Given the description of an element on the screen output the (x, y) to click on. 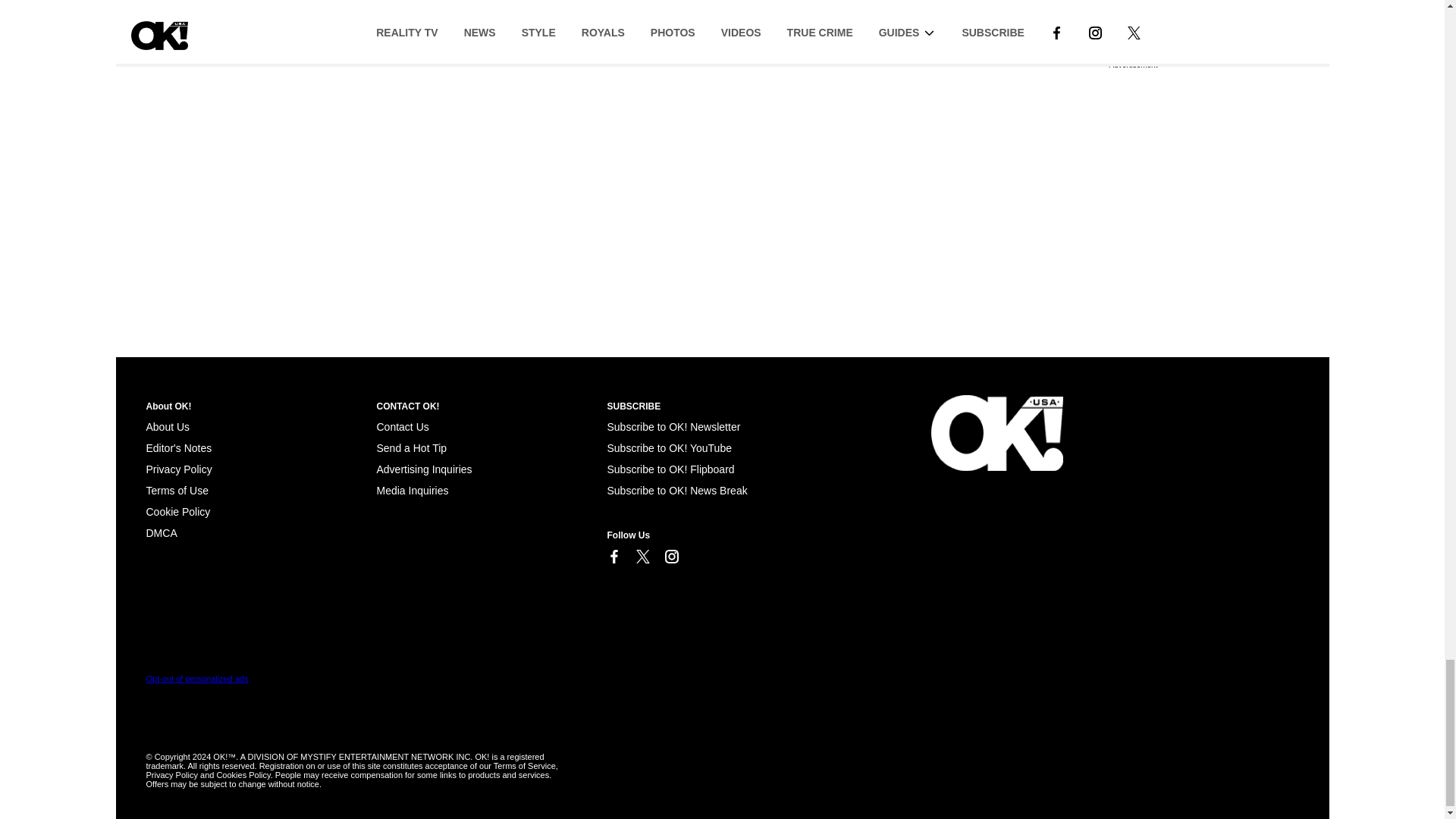
Link to X (641, 556)
Cookie Policy (160, 532)
Editor's Notes (178, 448)
About Us (167, 426)
Link to Facebook (613, 556)
Terms of Use (176, 490)
Cookie Policy (177, 511)
Link to Instagram (670, 556)
Contact Us (401, 426)
Privacy Policy (178, 469)
